Given the description of an element on the screen output the (x, y) to click on. 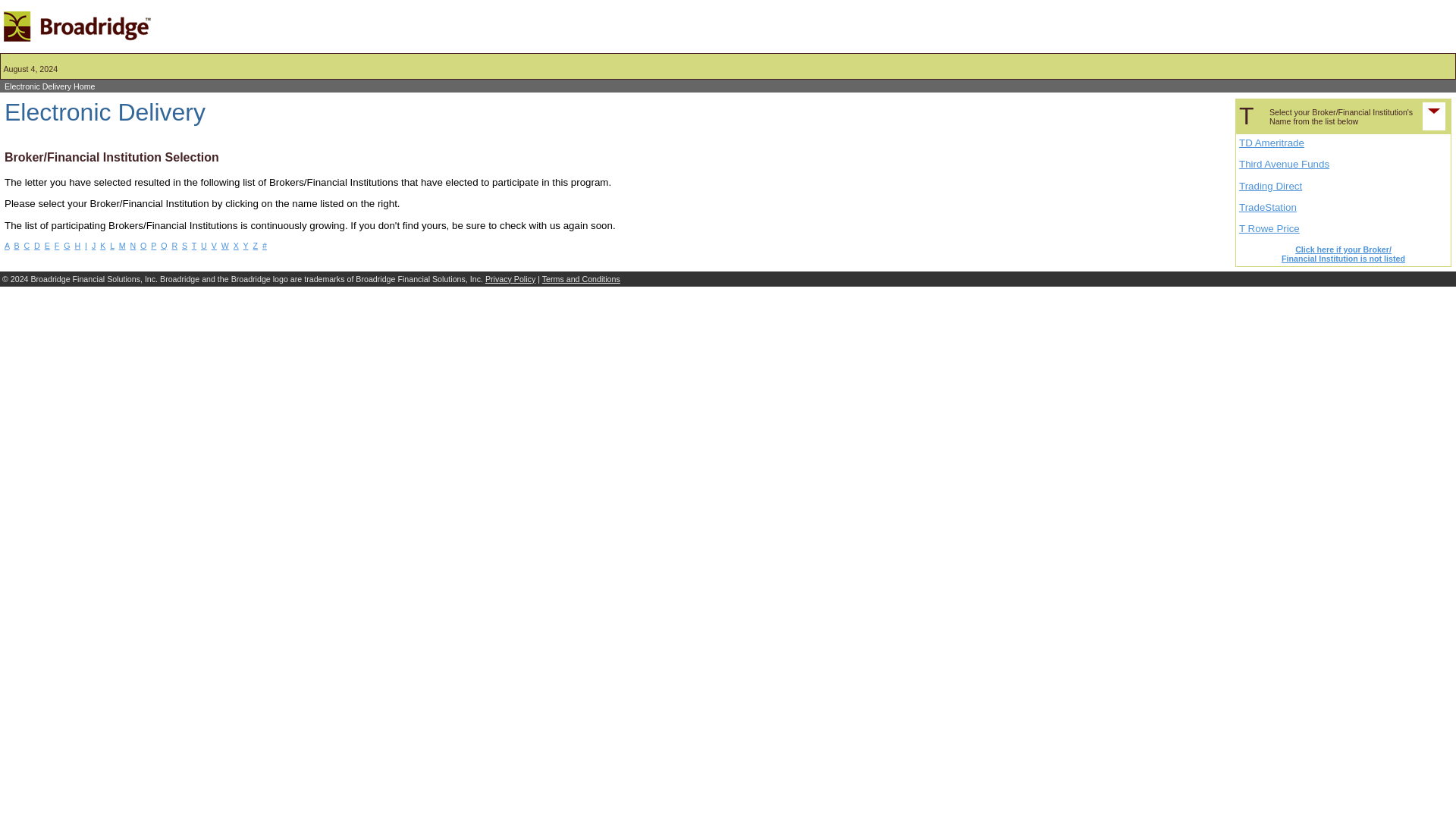
T Rowe Price (1269, 228)
Terms and Conditions (580, 278)
Trading Direct (1270, 185)
Electronic Delivery Home (50, 85)
Privacy Policy (509, 278)
TradeStation (1268, 206)
Third Avenue Funds (1284, 163)
TD Ameritrade (1271, 142)
